Given the description of an element on the screen output the (x, y) to click on. 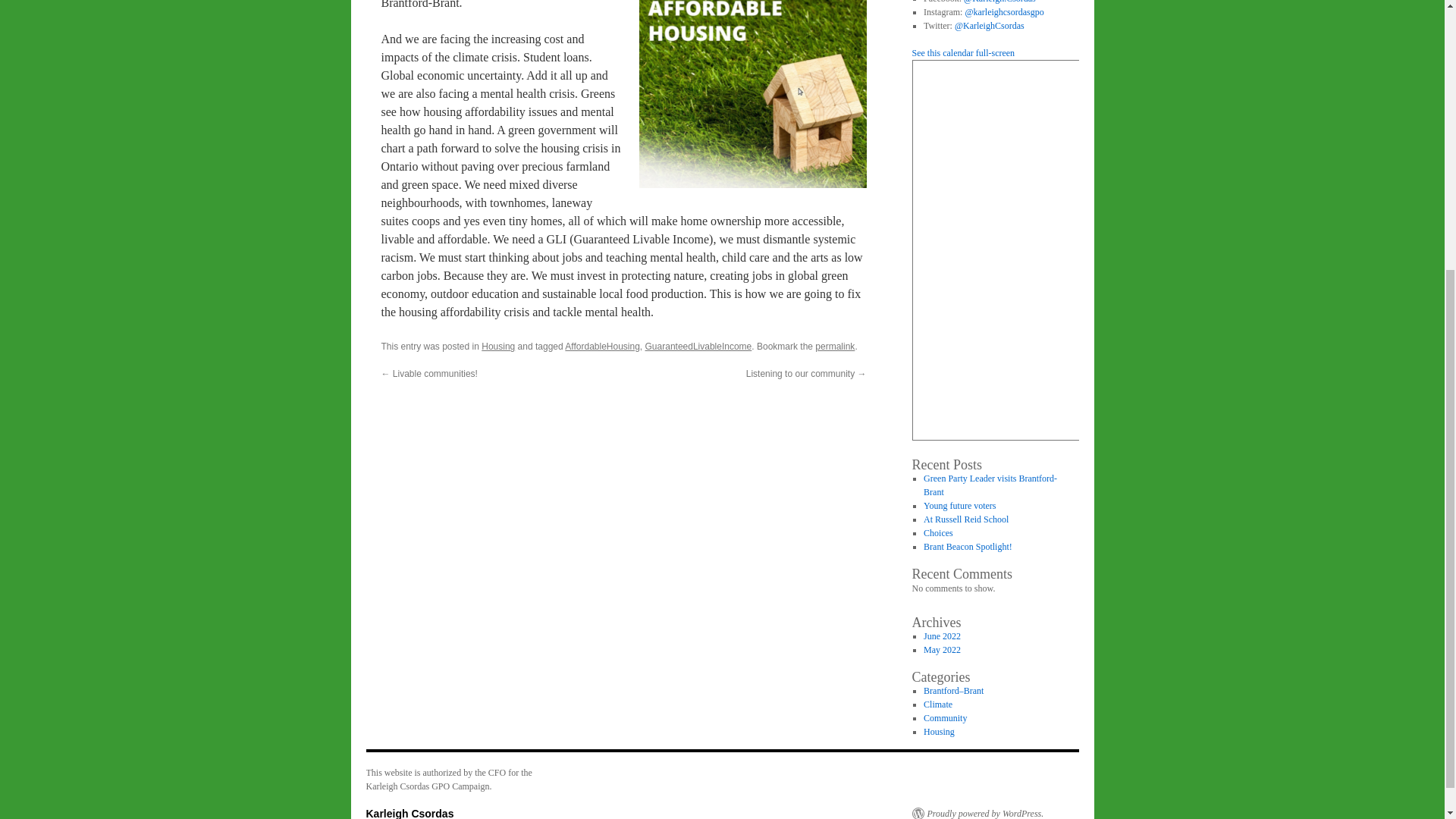
Housing (498, 346)
AffordableHousing (602, 346)
At Russell Reid School (966, 519)
permalink (834, 346)
Choices (938, 532)
GuaranteedLivableIncome (698, 346)
Green Party Leader visits Brantford-Brant (990, 485)
Permalink to Affordable home ownership (834, 346)
See this calendar full-screen (962, 52)
Young future voters (959, 505)
